Given the description of an element on the screen output the (x, y) to click on. 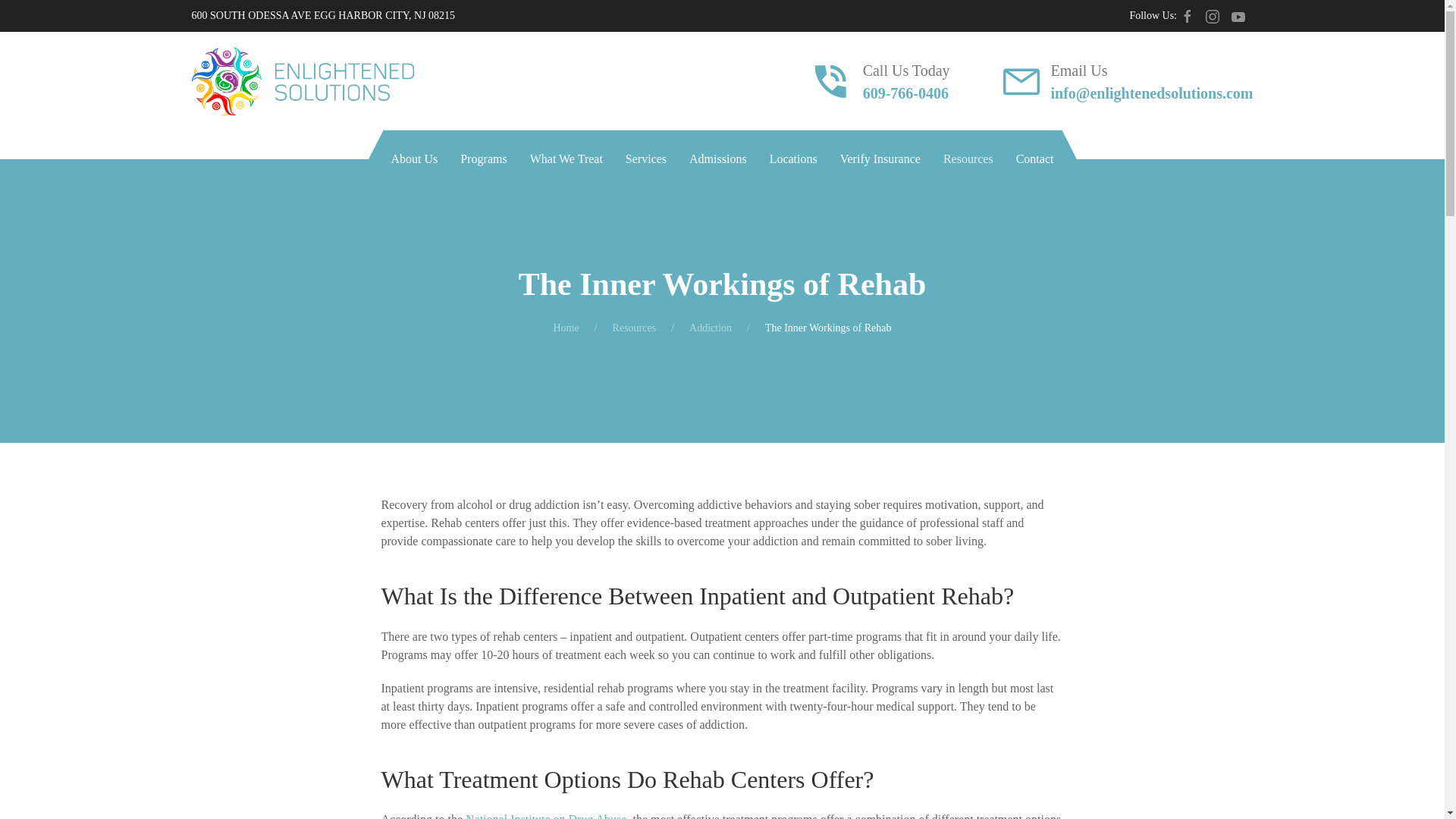
609-766-0406 (906, 93)
